Given the description of an element on the screen output the (x, y) to click on. 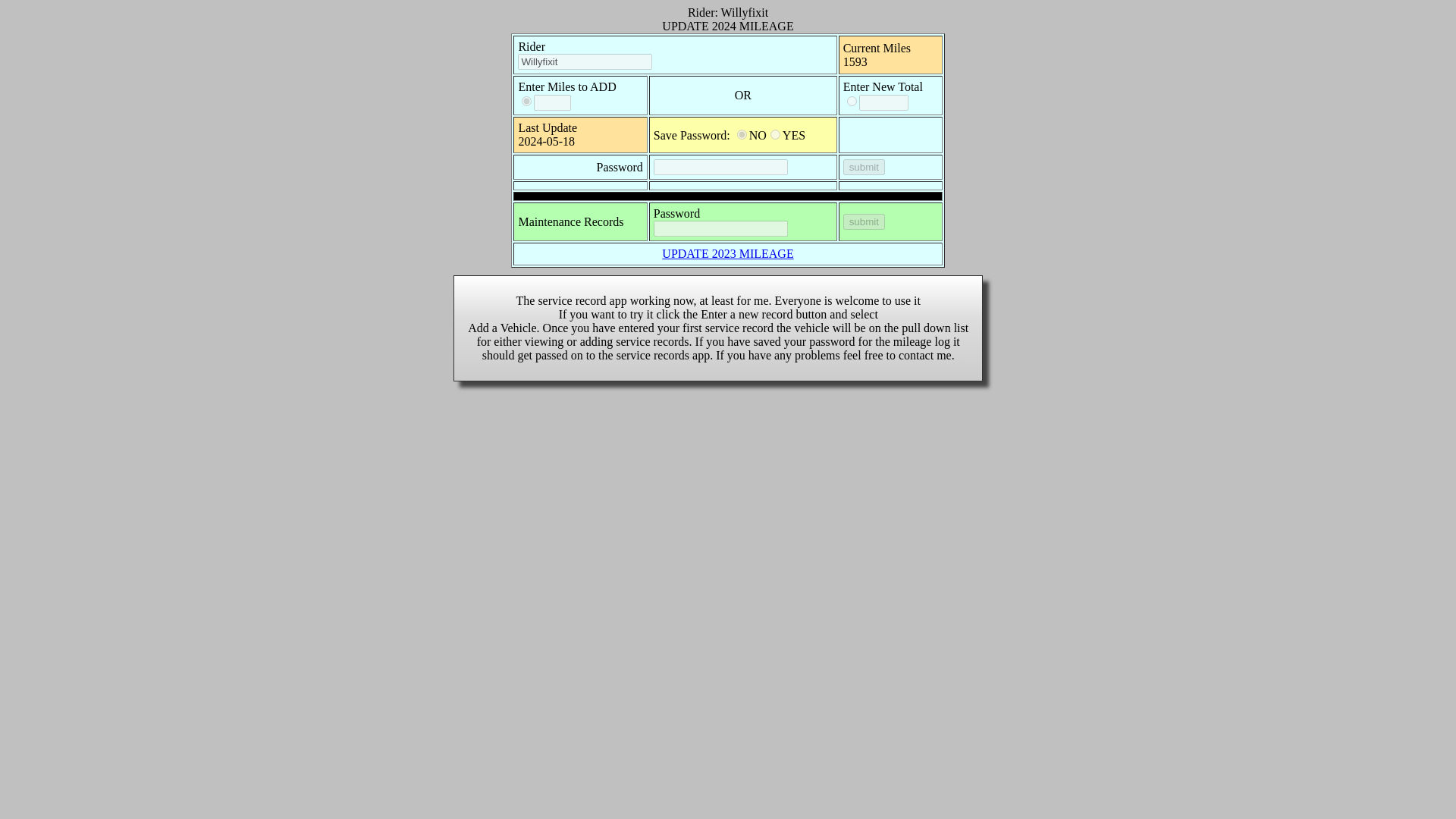
submit (864, 221)
NO (741, 134)
UPDATE 2023 MILEAGE (727, 253)
Willyfixit (585, 61)
ADD (526, 101)
TOTAL (852, 101)
submit (864, 221)
submit (864, 166)
submit (864, 166)
YES (775, 134)
